Given the description of an element on the screen output the (x, y) to click on. 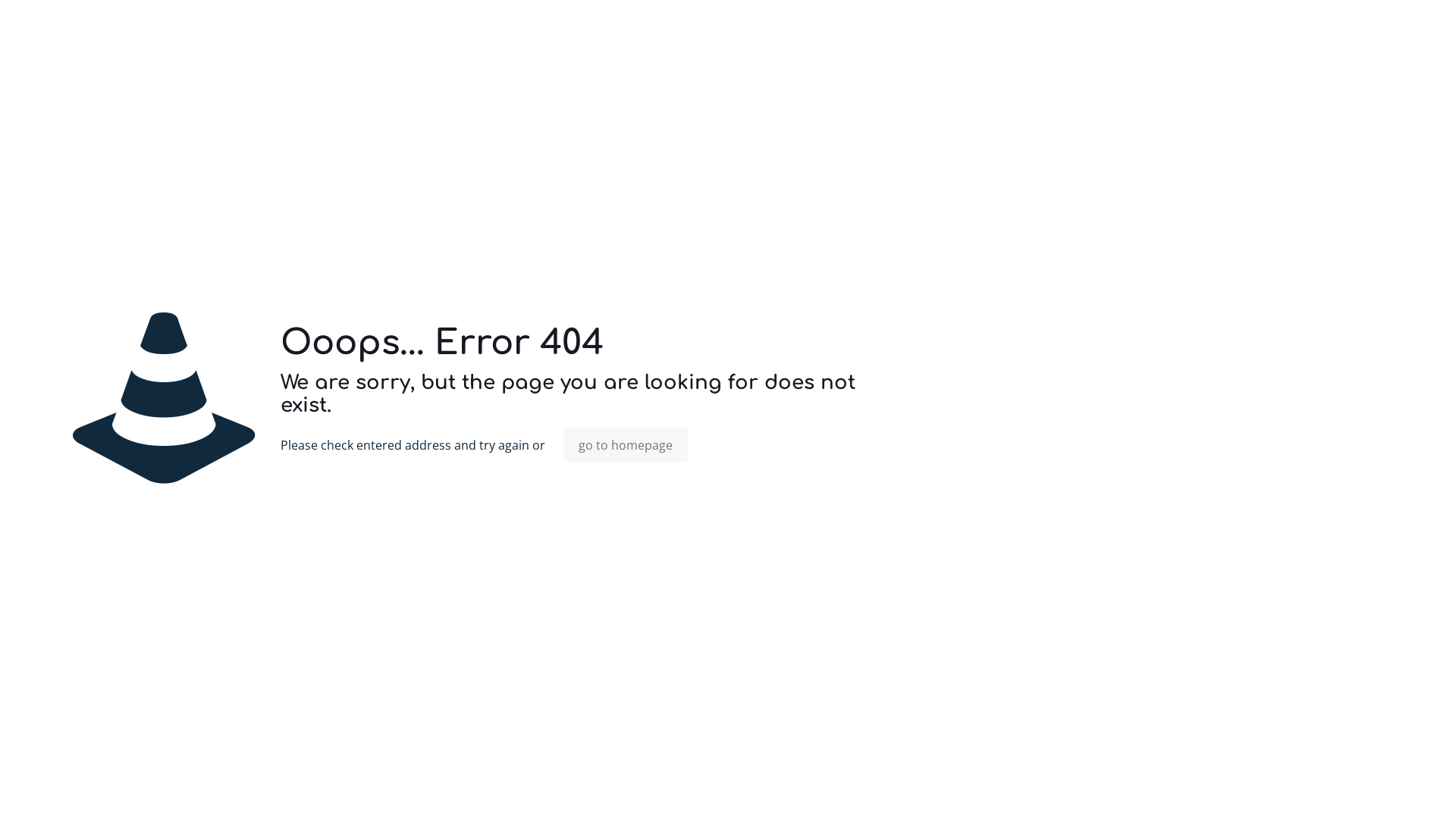
go to homepage Element type: text (625, 444)
